Given the description of an element on the screen output the (x, y) to click on. 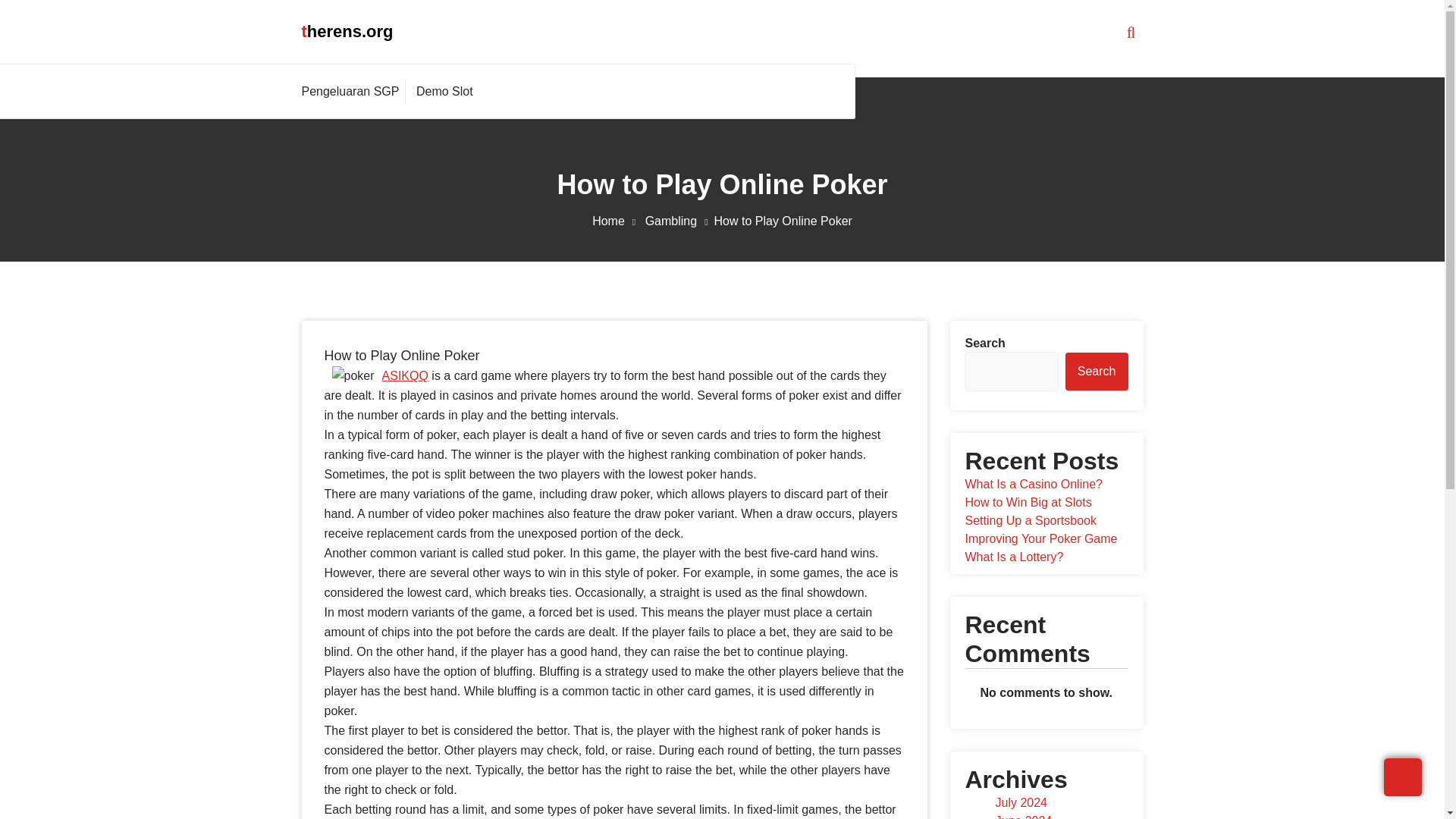
Setting Up a Sportsbook (1029, 520)
Demo Slot (444, 91)
Improving Your Poker Game (1039, 538)
Demo Slot (444, 91)
Pengeluaran SGP (353, 91)
therens.org (347, 31)
Pengeluaran SGP (353, 91)
What Is a Casino Online? (1032, 483)
Gambling (679, 220)
June 2024 (1022, 816)
ASIKQQ (404, 375)
What Is a Lottery? (1012, 556)
Search (1096, 371)
Home (617, 220)
How to Win Big at Slots (1026, 502)
